Given the description of an element on the screen output the (x, y) to click on. 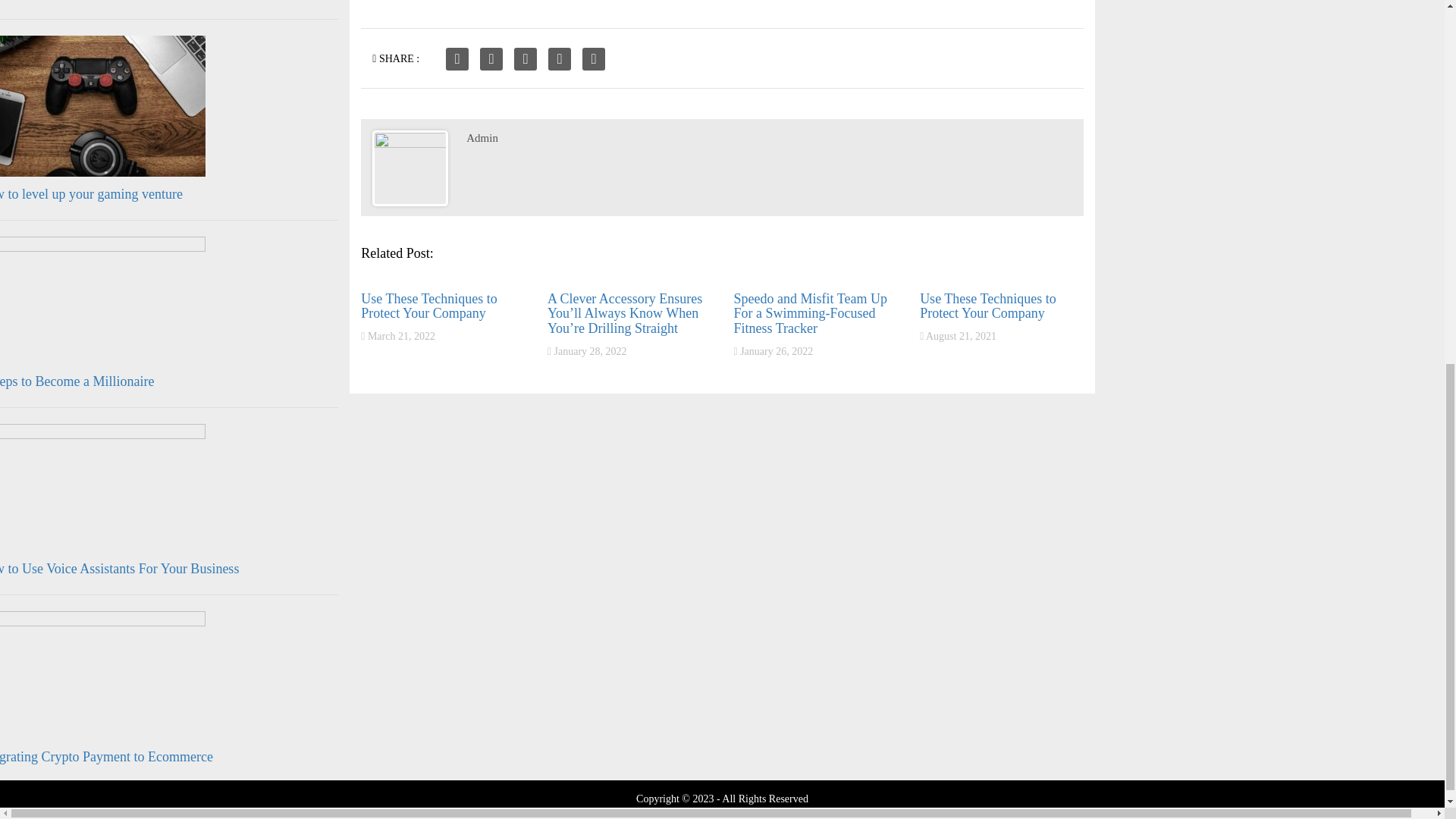
How to Use Voice Assistants For Your Business (119, 568)
How to level up your gaming venture (91, 193)
Posts by Admin (481, 137)
7 Steps to Become a Millionaire (77, 381)
Integrating Crypto Payment to Ecommerce (106, 756)
Share on Facebook (456, 58)
